Given the description of an element on the screen output the (x, y) to click on. 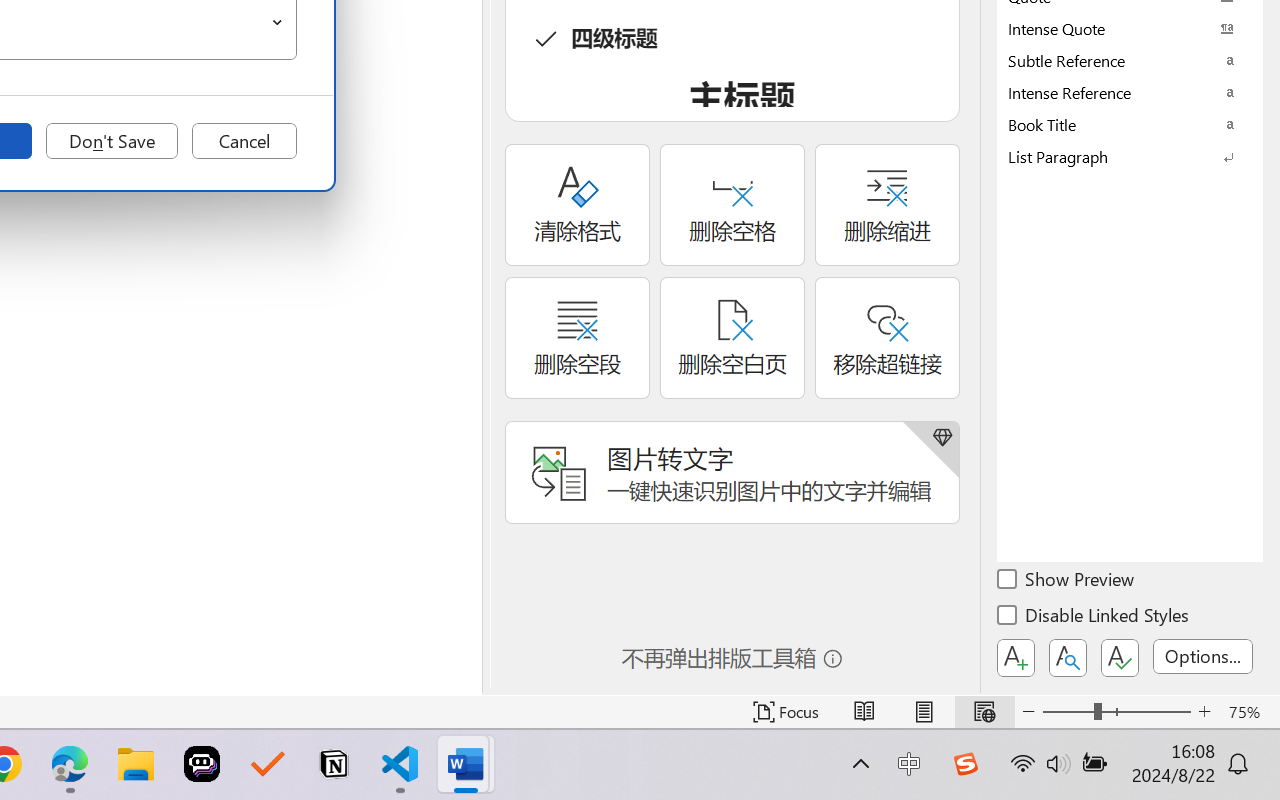
Disable Linked Styles (1094, 618)
Intense Quote (1130, 28)
Zoom Out (1067, 712)
Zoom (1116, 712)
Poe (201, 764)
